Given the description of an element on the screen output the (x, y) to click on. 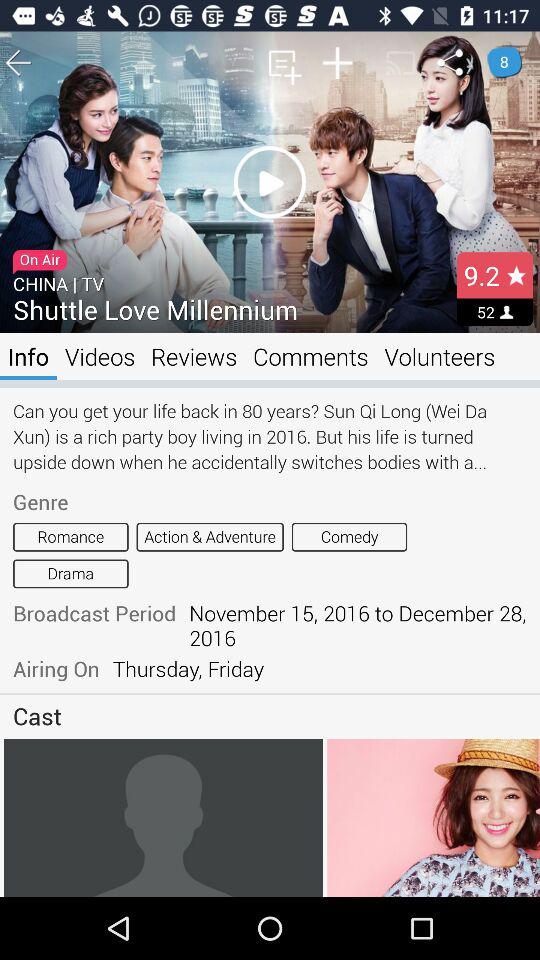
choose icon to the left of the volunteers app (310, 356)
